Given the description of an element on the screen output the (x, y) to click on. 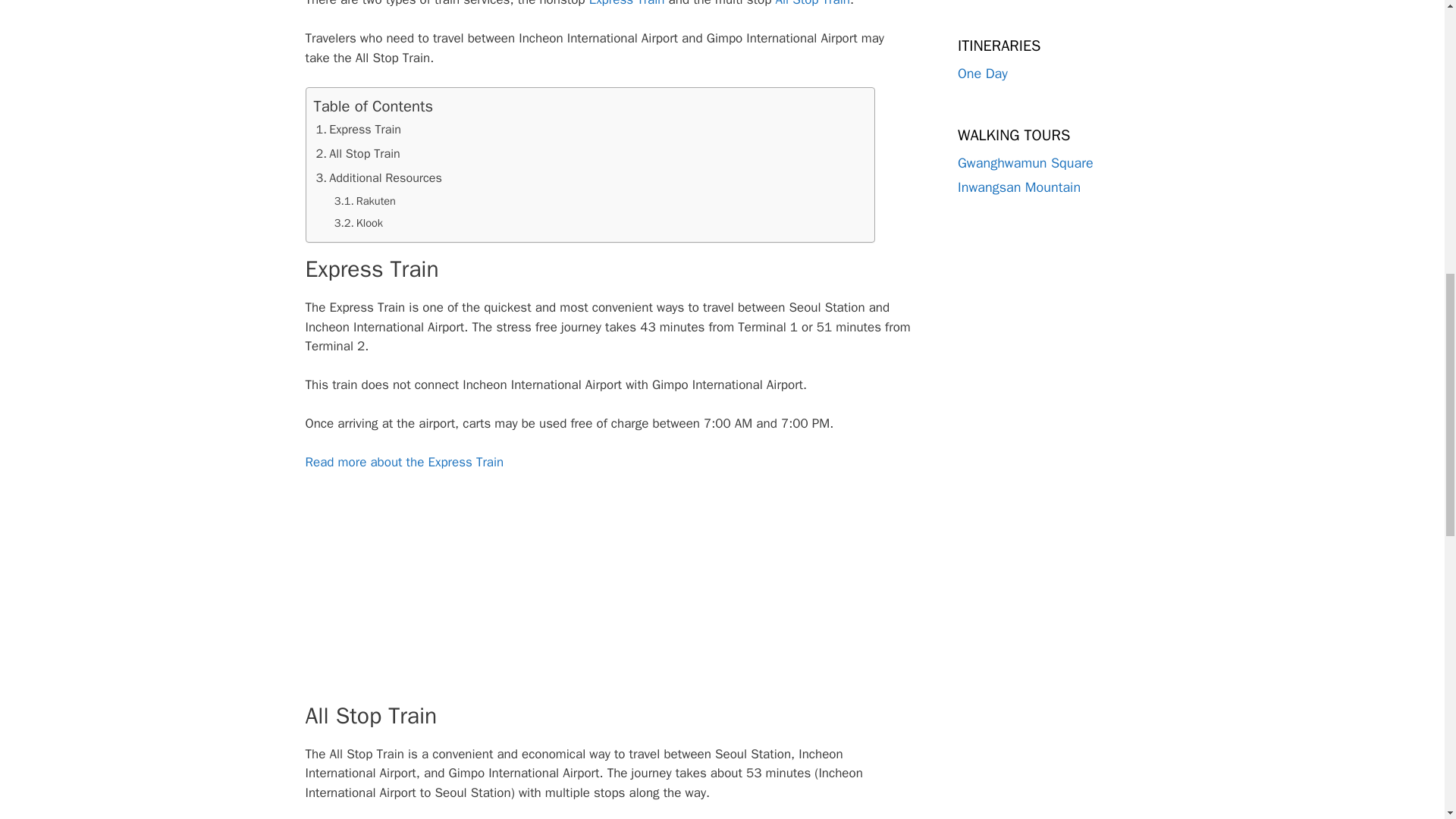
Rakuten (364, 201)
Express Train (359, 129)
Klook (358, 223)
Additional Resources (379, 178)
All Stop Train (358, 153)
